Given the description of an element on the screen output the (x, y) to click on. 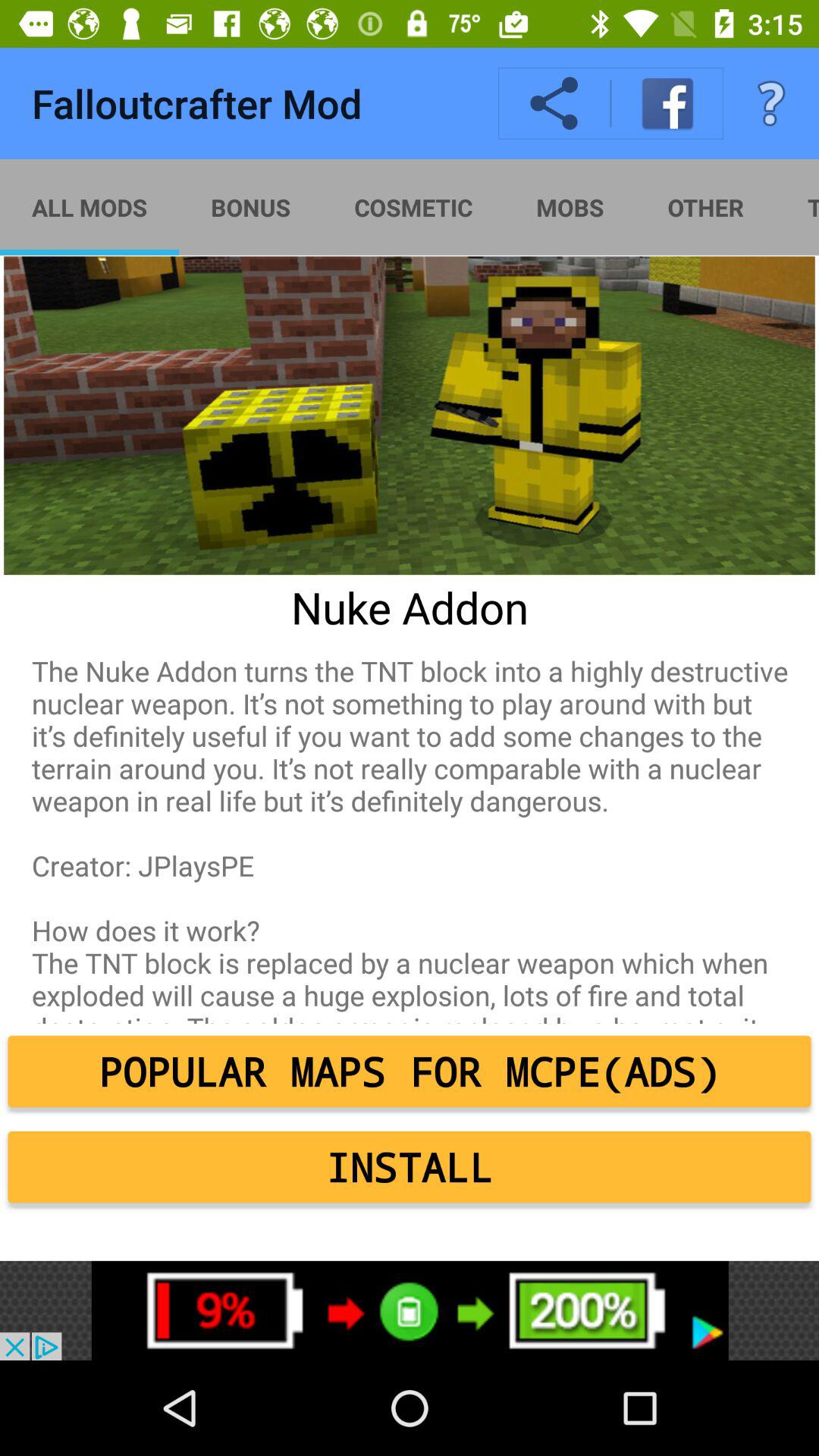
click bottom advertisement (409, 1310)
